Given the description of an element on the screen output the (x, y) to click on. 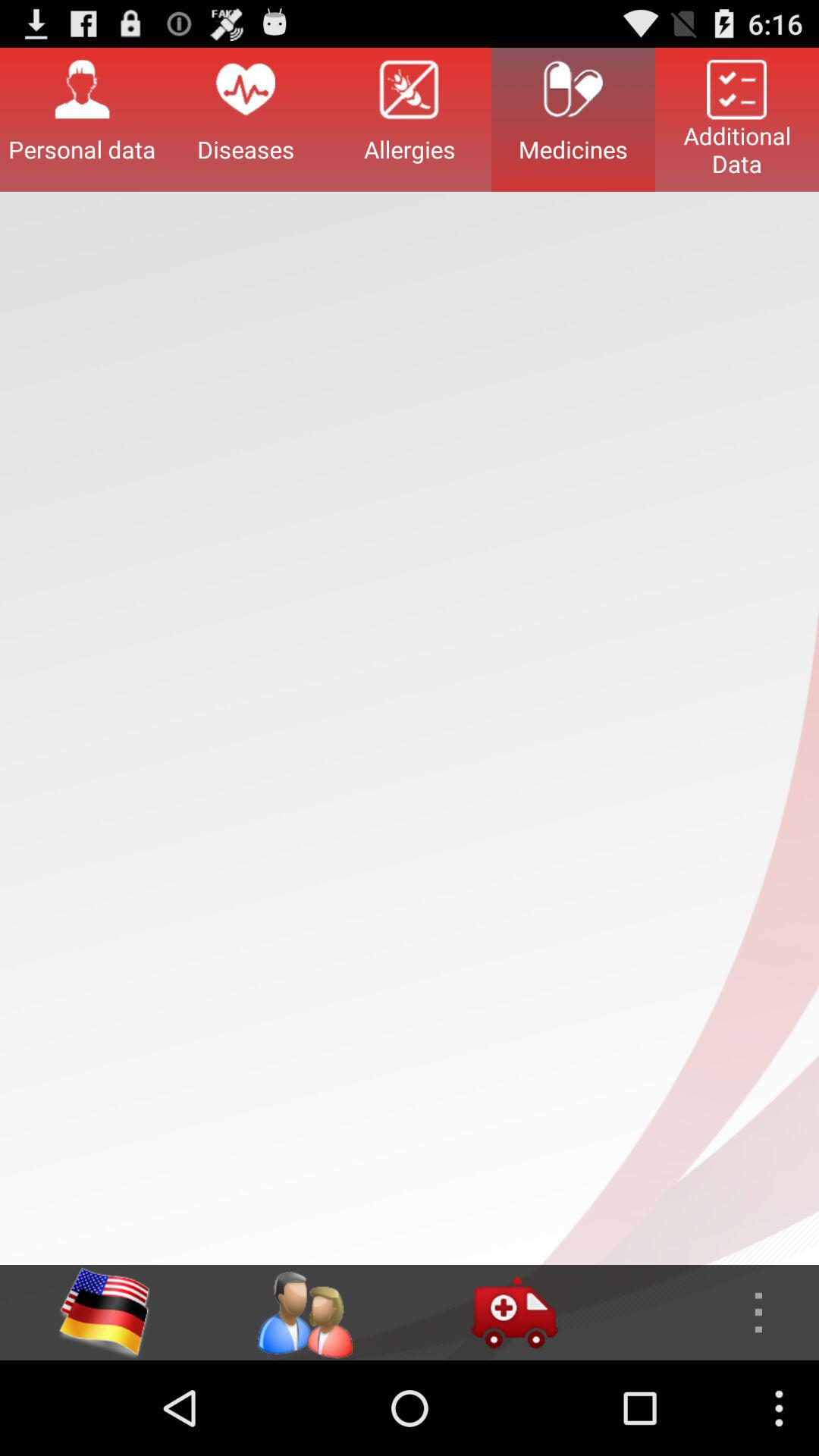
turn off item at the top (409, 119)
